Given the description of an element on the screen output the (x, y) to click on. 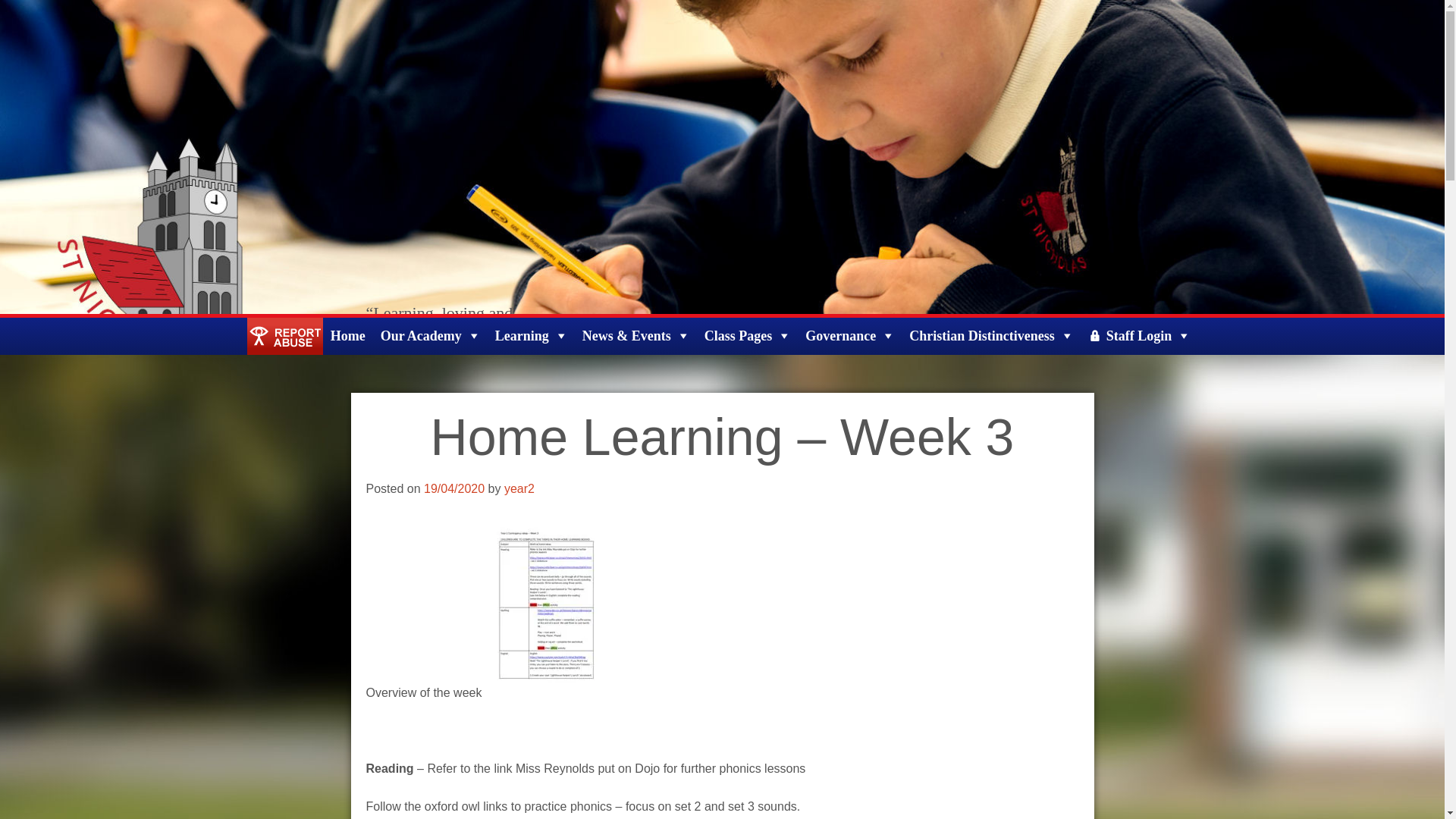
Home (347, 335)
St Nicholas CE Primary Academy (89, 327)
Our Academy (429, 335)
Learning (531, 335)
